Given the description of an element on the screen output the (x, y) to click on. 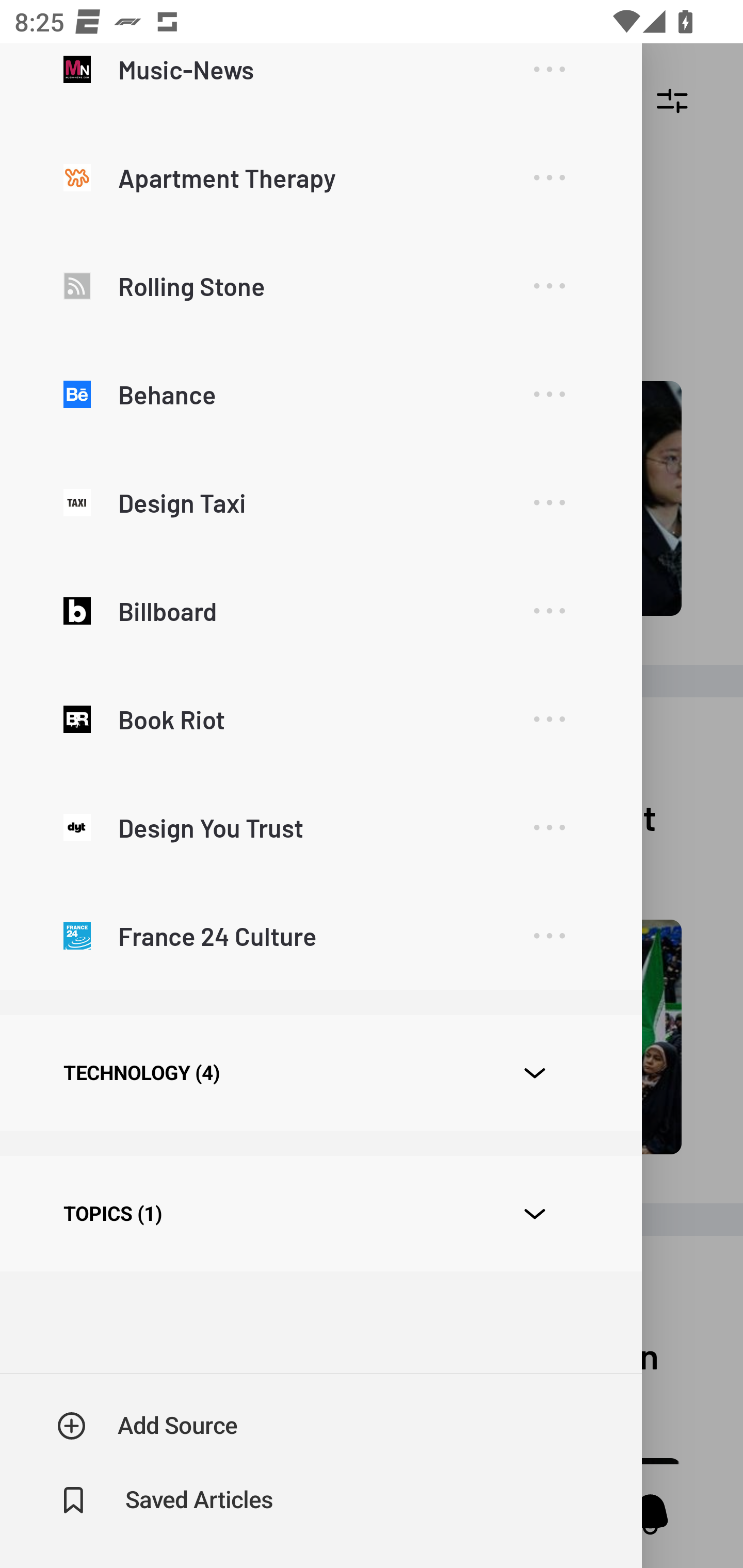
Writer Logo Music-News More Options (320, 83)
More Options (548, 77)
Writer Logo Apartment Therapy More Options (320, 177)
More Options (548, 177)
RSS Feed Icon Rolling Stone More Options (320, 286)
More Options (548, 286)
Writer Logo Behance More Options (320, 394)
More Options (548, 394)
Writer Logo Design Taxi More Options (320, 502)
More Options (548, 502)
Writer Logo Billboard More Options (320, 610)
More Options (548, 610)
Writer Logo Book Riot More Options (320, 718)
More Options (548, 719)
Writer Logo Design You Trust More Options (320, 827)
More Options (548, 827)
Writer Logo France 24 Culture More Options (320, 935)
More Options (548, 936)
TECHNOLOGY  (4) Expand Button (320, 1072)
Expand Button (534, 1073)
TOPICS  (1) Expand Button (320, 1213)
Expand Button (534, 1214)
Open Content Store Add Source (147, 1425)
Open Saved News  Saved Articles (166, 1500)
